Given the description of an element on the screen output the (x, y) to click on. 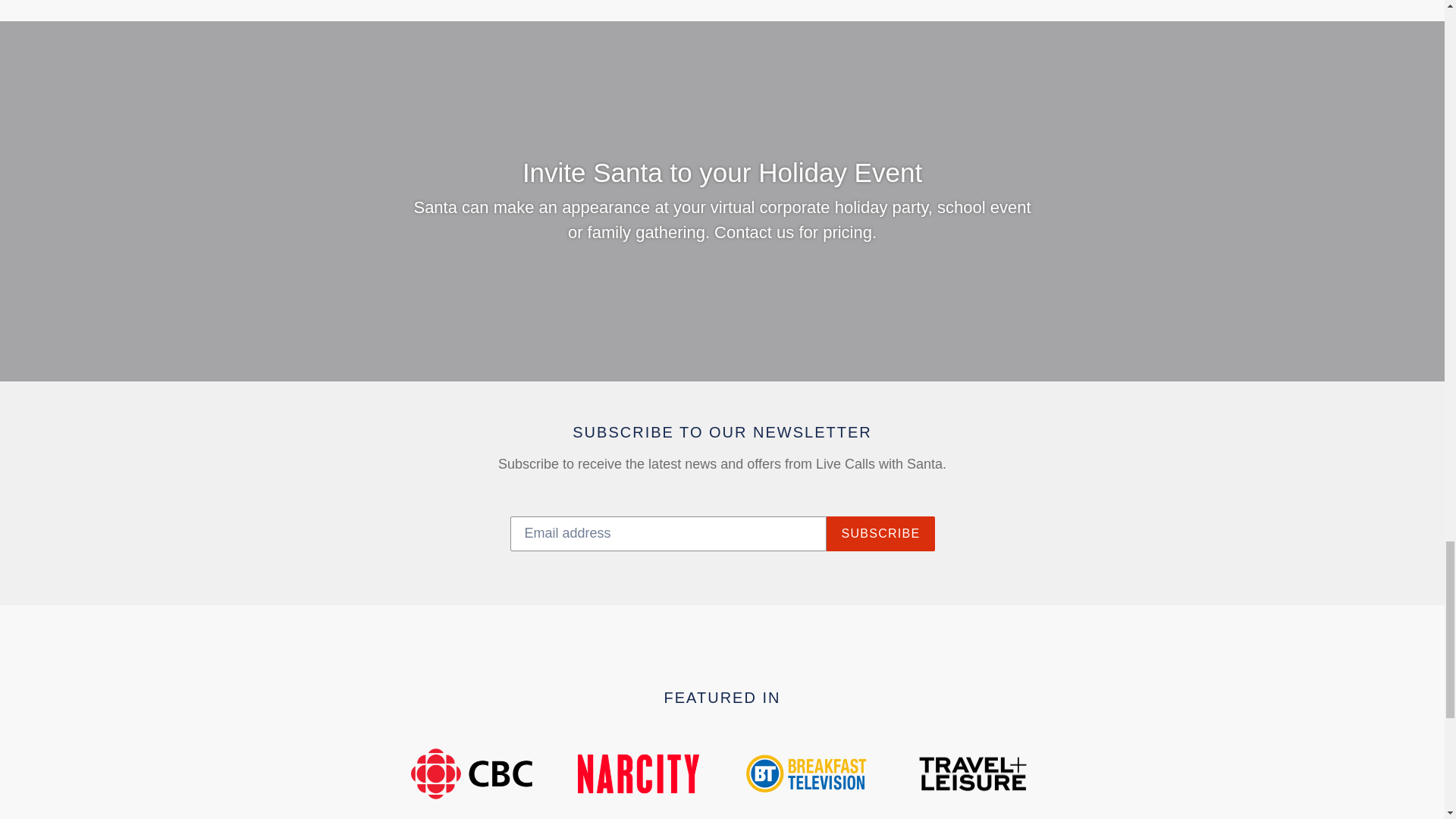
SUBSCRIBE (880, 533)
